Given the description of an element on the screen output the (x, y) to click on. 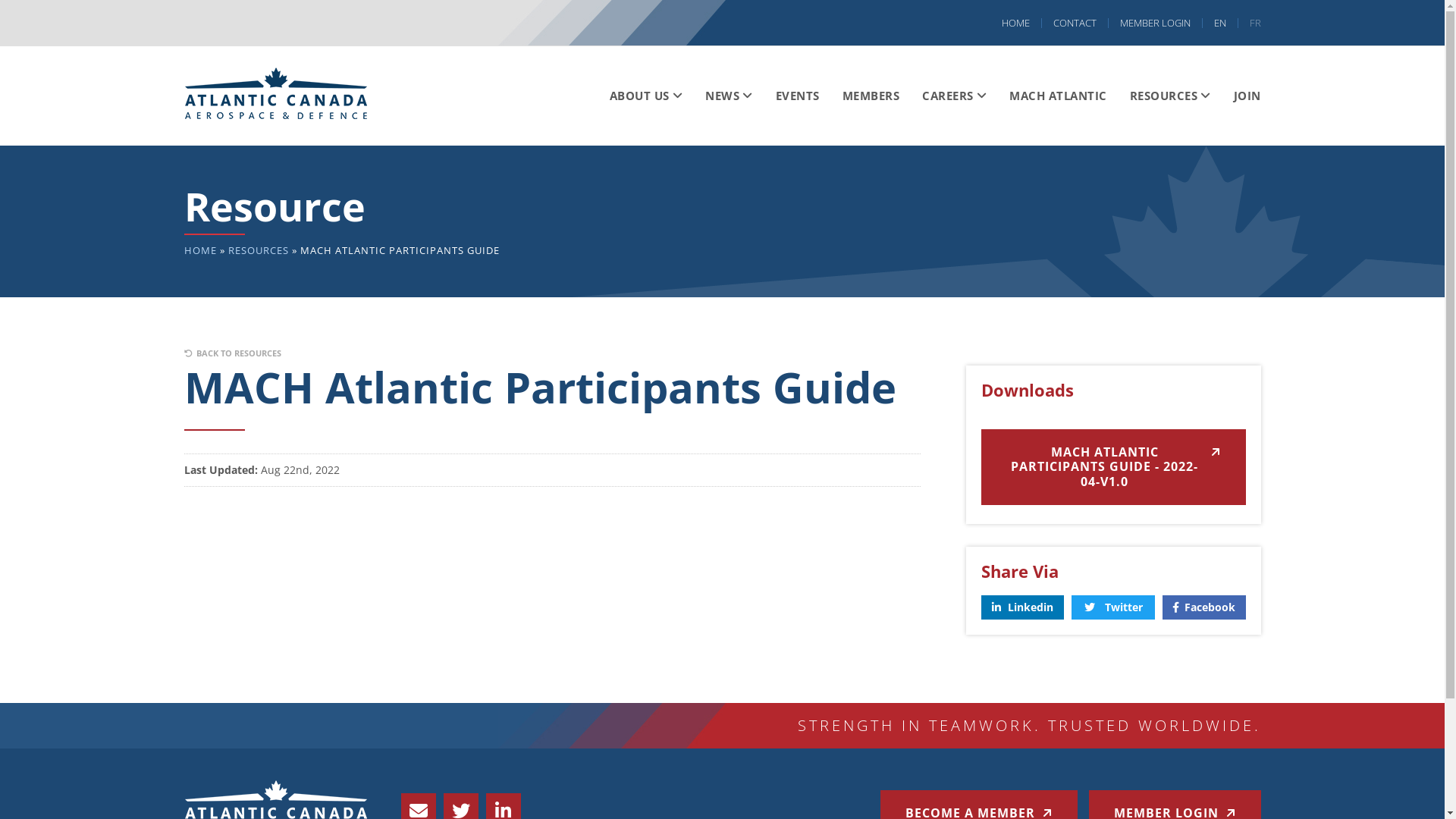
BACK TO RESOURCES Element type: text (231, 353)
HOME Element type: text (1015, 23)
EN Element type: text (1220, 23)
CONTACT Element type: text (1074, 23)
Linkedin Element type: text (1022, 607)
ABOUT US Element type: text (645, 95)
MEMBERS Element type: text (871, 95)
MEMBER LOGIN Element type: text (1155, 23)
HOME Element type: text (199, 250)
FR Element type: text (1248, 23)
CAREERS Element type: text (953, 95)
NEWS Element type: text (728, 95)
EVENTS Element type: text (797, 95)
Twitter Element type: text (1112, 607)
Facebook Element type: text (1203, 607)
MACH ATLANTIC Element type: text (1057, 95)
JOIN Element type: text (1241, 95)
RESOURCES Element type: text (257, 250)
RESOURCES Element type: text (1169, 95)
MACH ATLANTIC PARTICIPANTS GUIDE - 2022-04-V1.0 Element type: text (1113, 467)
